Given the description of an element on the screen output the (x, y) to click on. 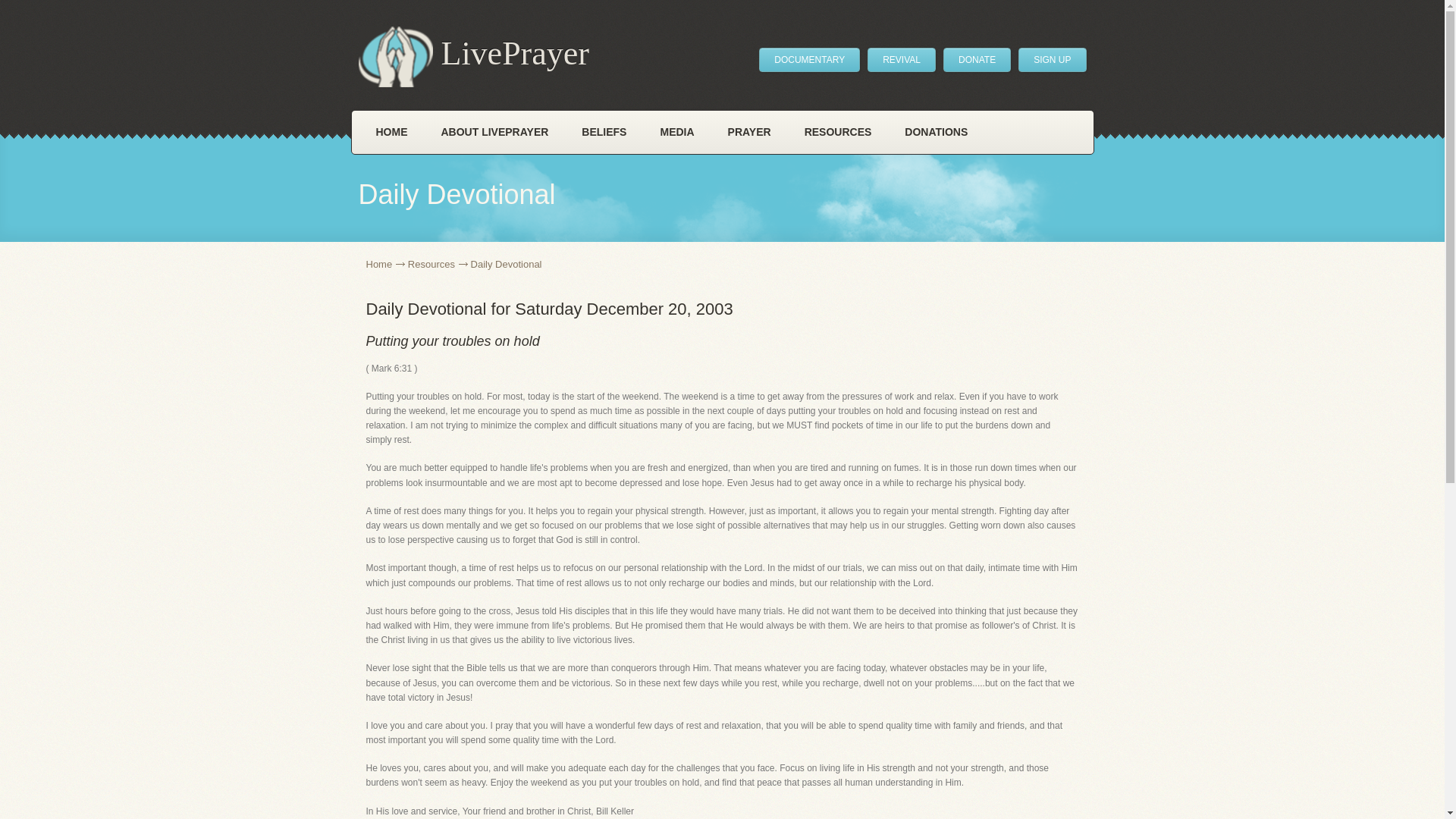
HOME (392, 131)
DOCUMENTARY (809, 59)
LivePrayer (473, 56)
SIGN UP (1051, 59)
Home (384, 264)
REVIVAL (901, 59)
DONATE (976, 59)
MEDIA (676, 131)
BELIEFS (603, 131)
ABOUT LIVEPRAYER (495, 131)
